Given the description of an element on the screen output the (x, y) to click on. 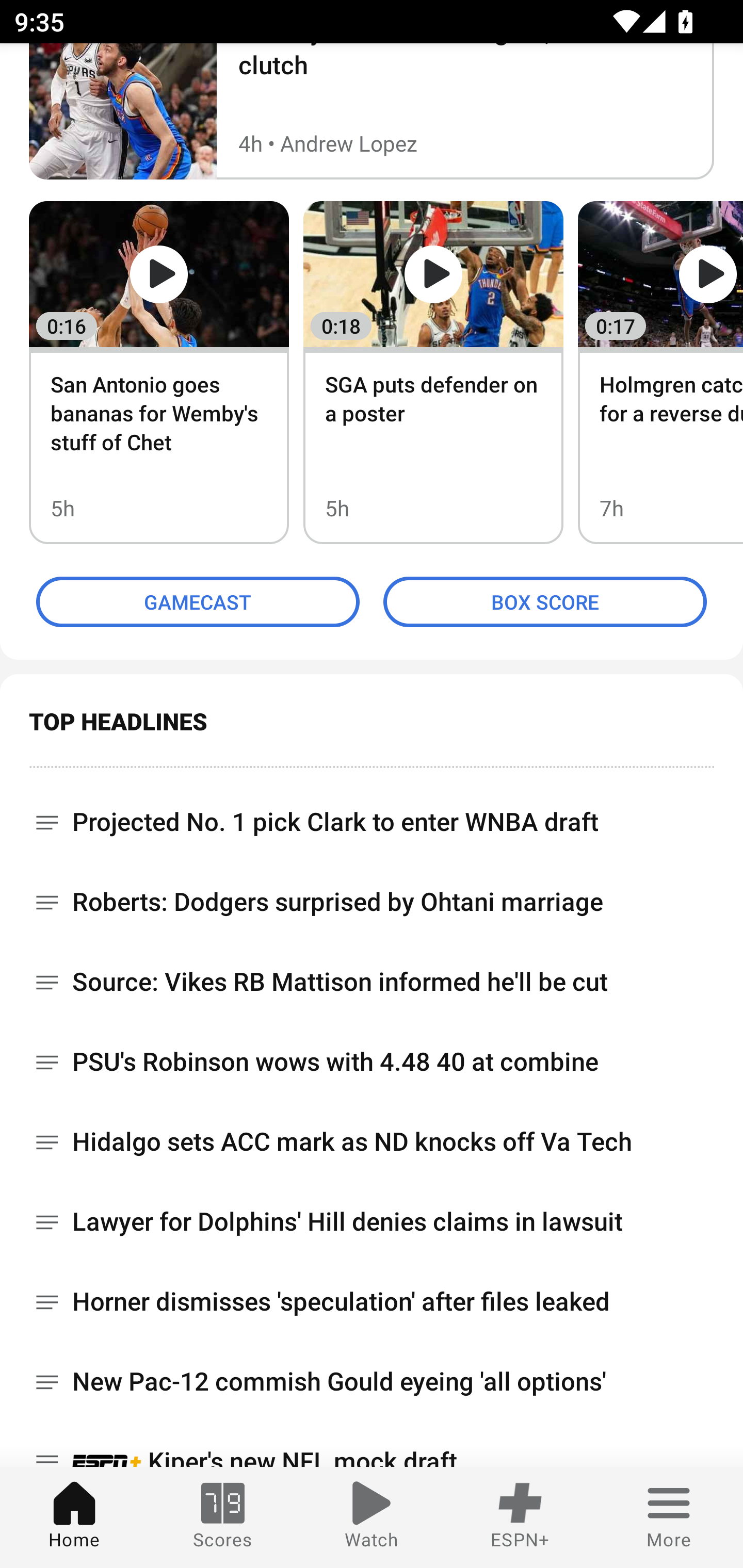
 0:18 SGA puts defender on a poster 5h (433, 372)
 0:17 Holmgren catches lob for a reverse dunk 7h (660, 372)
GAMECAST (197, 602)
BOX SCORE (544, 602)
 Projected No. 1 pick Clark to enter WNBA draft (371, 815)
 Roberts: Dodgers surprised by Ohtani marriage (371, 902)
 Source: Vikes RB Mattison informed he'll be cut (371, 982)
 PSU's Robinson wows with 4.48 40 at combine (371, 1062)
 Hidalgo sets ACC mark as ND knocks off Va Tech (371, 1142)
 New Pac-12 commish Gould eyeing 'all options' (371, 1382)
Scores (222, 1517)
Watch (371, 1517)
ESPN+ (519, 1517)
More (668, 1517)
